Given the description of an element on the screen output the (x, y) to click on. 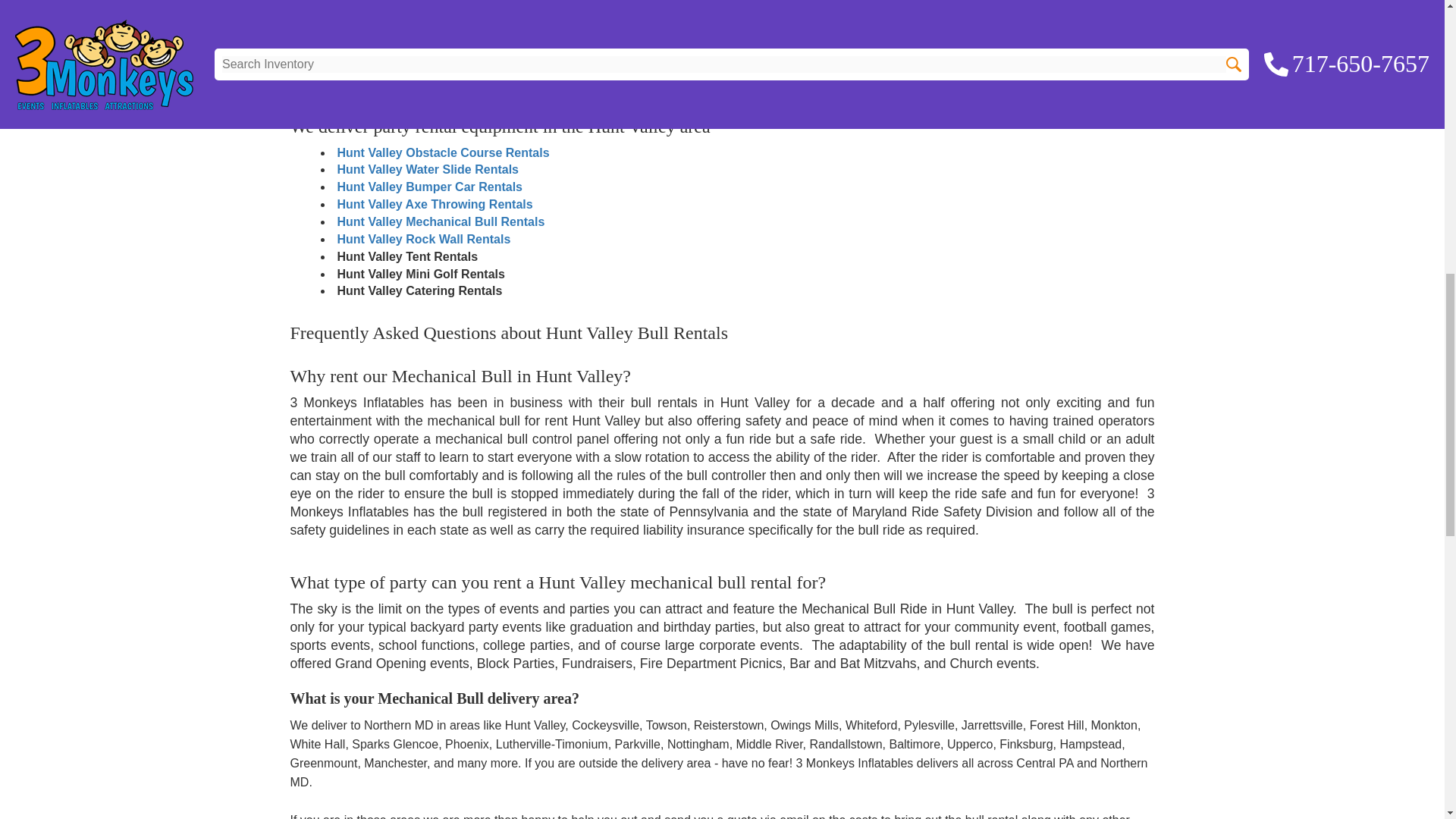
Hunt Valley Rock Wall Rentals (423, 238)
Hunt Valley Water Slide Rental (427, 169)
Hunt Valley Axe Throwing Rentals (434, 204)
Hunt Valley Bumper Car Rentals (429, 186)
Bull Rentals Hunt Valleynear me (425, 40)
Hunt Valley Mechanical Bull Rentals (440, 221)
Hunt Valley Obstacle Course Rental (442, 152)
